Given the description of an element on the screen output the (x, y) to click on. 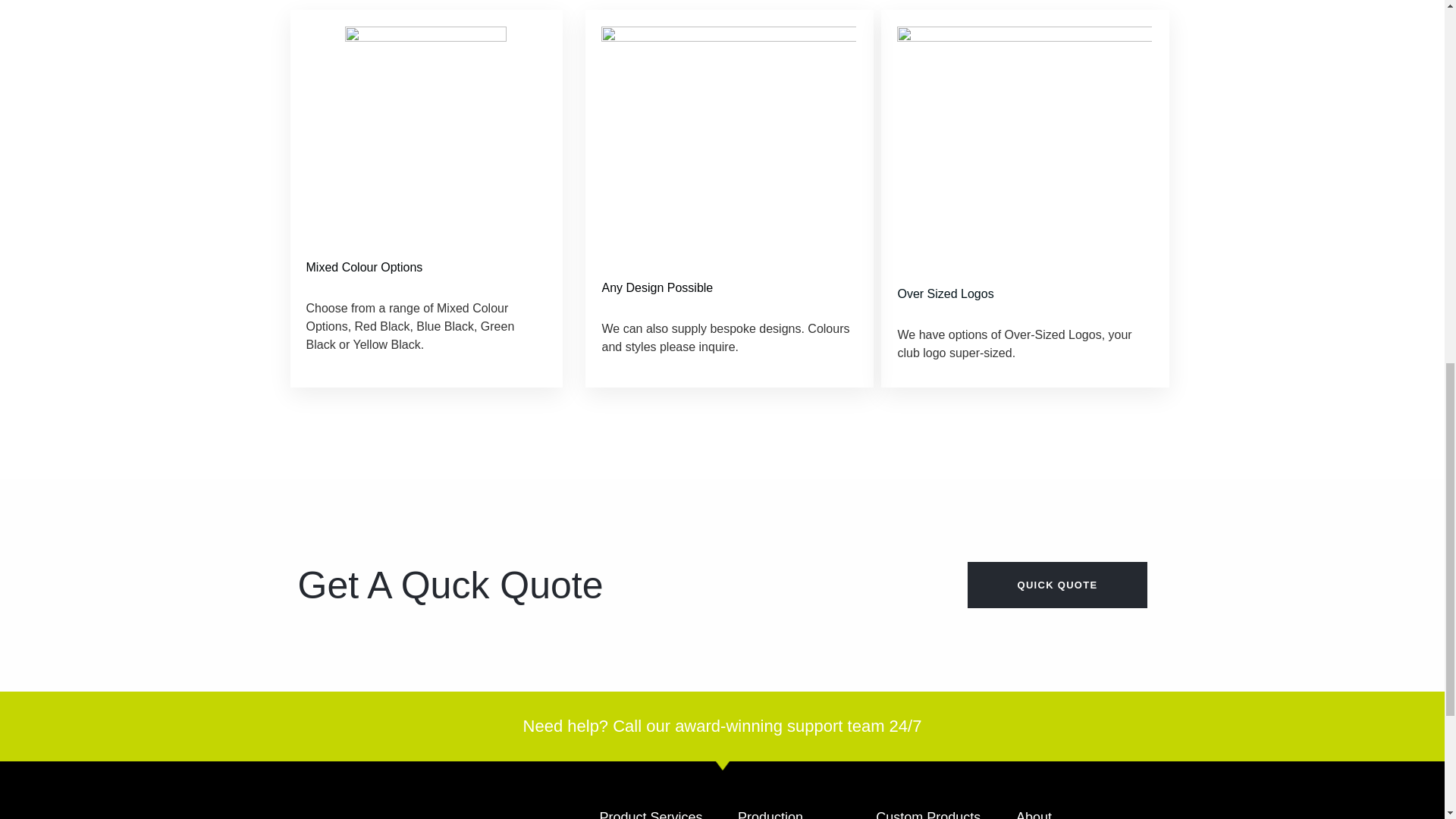
QUICK QUOTE (1057, 584)
Mixed Colour Options (425, 267)
Over Sized Logos (1023, 294)
Any Design Possible (728, 288)
